Given the description of an element on the screen output the (x, y) to click on. 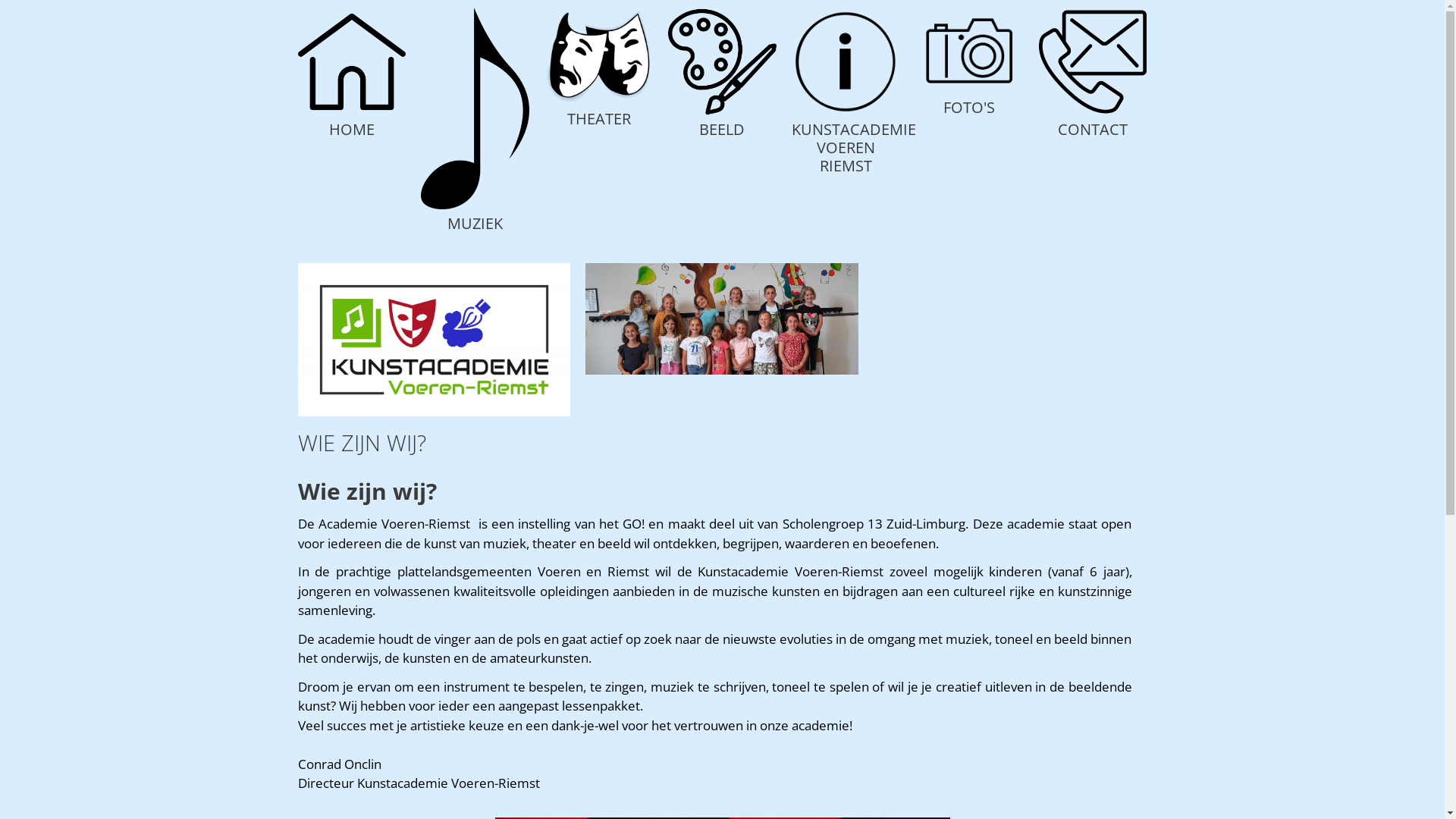
THEATER Element type: text (598, 118)
KUNSTACADEMIE VOEREN RIEMST Element type: text (853, 147)
BEELD Element type: text (721, 129)
CONTACT Element type: text (1092, 129)
FOTO'S Element type: text (968, 107)
HOME Element type: text (351, 129)
MUZIEK Element type: text (474, 223)
